Given the description of an element on the screen output the (x, y) to click on. 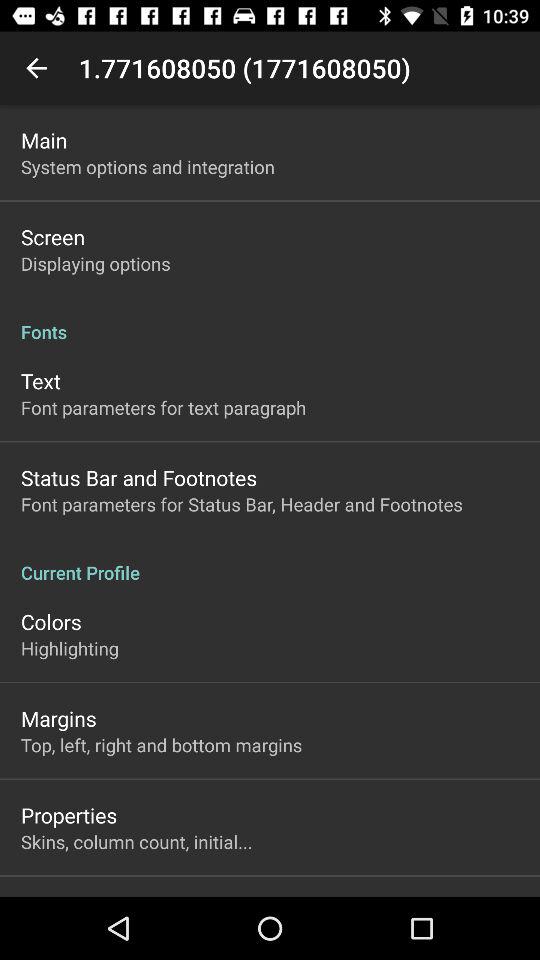
jump until the main icon (44, 139)
